Given the description of an element on the screen output the (x, y) to click on. 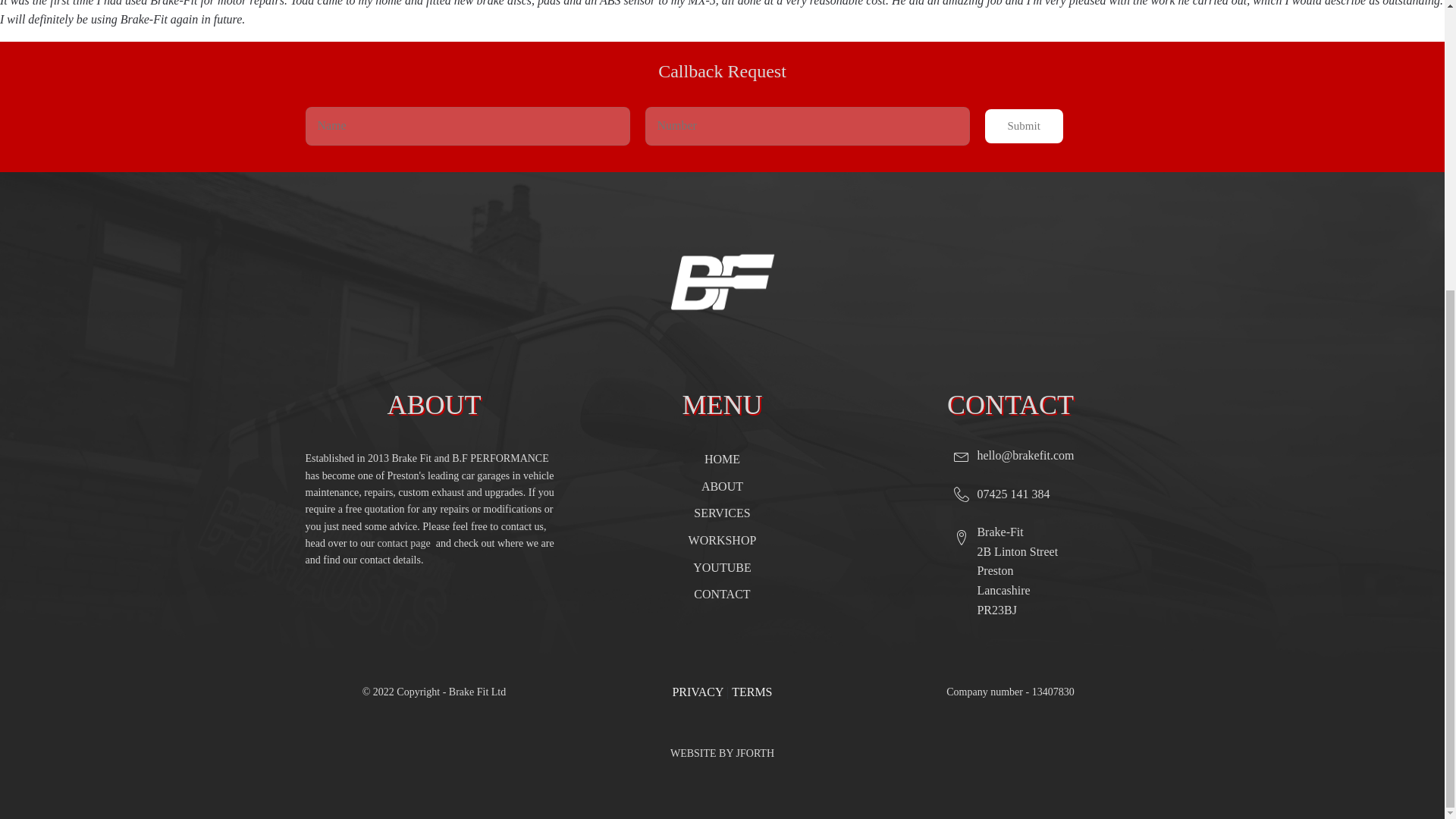
HOME (721, 459)
ABOUT (721, 486)
SERVICES (721, 513)
contact page (406, 543)
Submit (1023, 125)
